Given the description of an element on the screen output the (x, y) to click on. 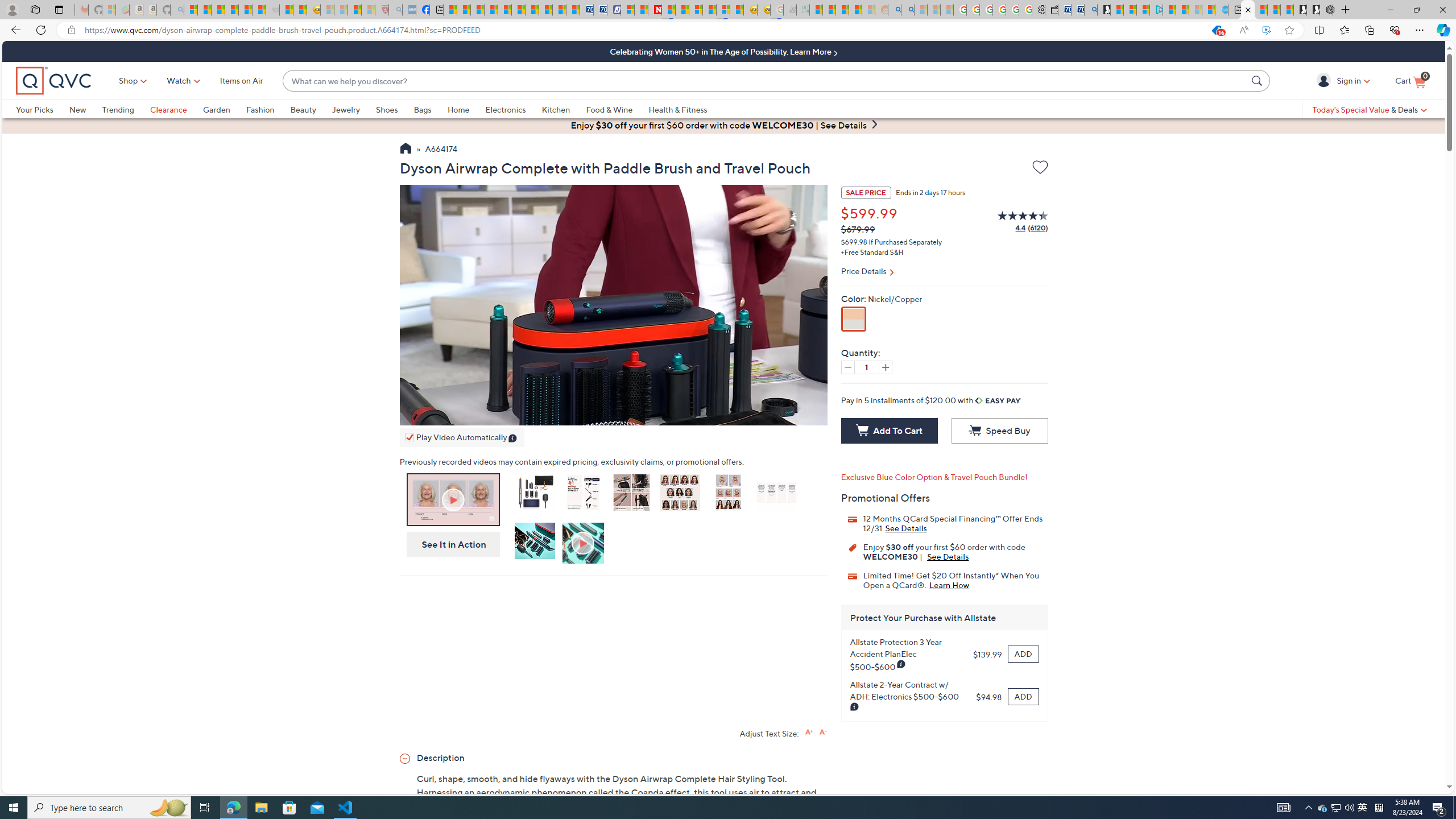
Picture-in-Picture (495, 413)
New Report Confirms 2023 Was Record Hot | Watch (245, 9)
On-Air Presentation (453, 499)
Nordace - Nordace Siena Is Not An Ordinary Backpack (1326, 9)
Clearance (175, 109)
Cheap Hotels - Save70.com (599, 9)
A664174 (441, 149)
